Given the description of an element on the screen output the (x, y) to click on. 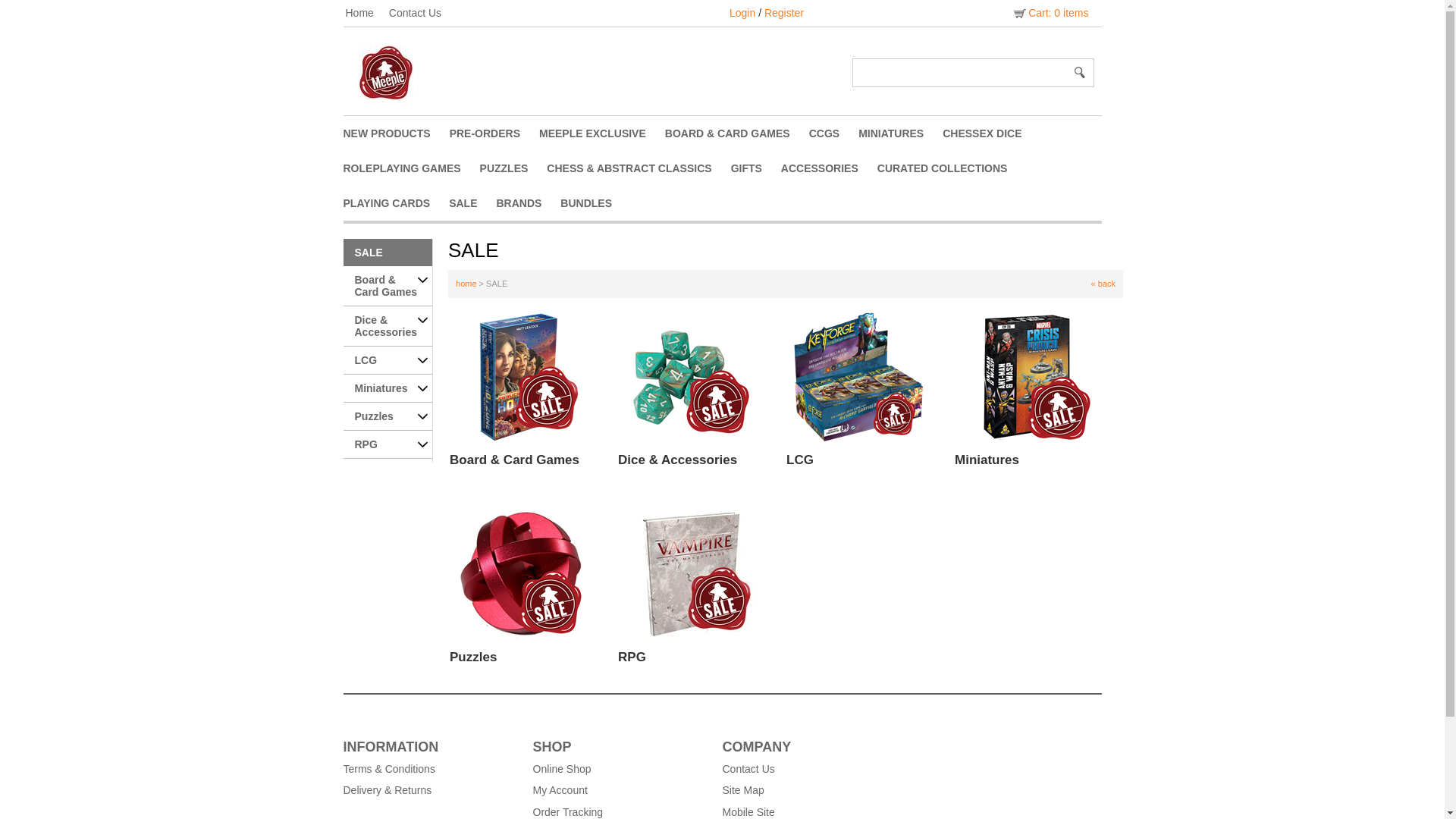
PRE-ORDERS Element type: text (494, 133)
MEEPLE EXCLUSIVE Element type: text (602, 133)
Online Shop Element type: text (619, 768)
ACCESSORIES Element type: text (829, 167)
Home Element type: text (367, 12)
CURATED COLLECTIONS Element type: text (951, 167)
Board & Card Games Element type: text (387, 286)
Contact Us Element type: text (422, 12)
My Account Element type: text (619, 789)
LCG Element type: text (799, 458)
Register Element type: text (783, 12)
Puzzles Element type: text (387, 416)
NEW PRODUCTS Element type: text (395, 133)
RPG Element type: text (387, 444)
Dice & Accessories Element type: text (677, 458)
ROLEPLAYING GAMES Element type: text (410, 167)
SALE Element type: text (471, 202)
home Element type: text (465, 283)
Site Map Element type: text (808, 789)
PUZZLES Element type: text (513, 167)
Login Element type: text (742, 12)
BRANDS Element type: text (527, 202)
Miniatures Element type: text (387, 388)
BUNDLES Element type: text (595, 202)
Puzzles Element type: text (472, 656)
RPG Element type: text (632, 656)
CCGS Element type: text (833, 133)
CHESS & ABSTRACT CLASSICS Element type: text (638, 167)
GIFTS Element type: text (756, 167)
Cart: 0 items Element type: text (1049, 12)
CHESSEX DICE Element type: text (991, 133)
Search Products... Element type: hover (960, 72)
SALE Element type: text (387, 252)
LCG Element type: text (387, 360)
Contact Us Element type: text (808, 768)
Miniatures Element type: text (986, 458)
BOARD & CARD GAMES Element type: text (737, 133)
Delivery & Returns Element type: text (429, 789)
Board & Card Games Element type: text (514, 458)
PLAYING CARDS Element type: text (395, 202)
Dice & Accessories Element type: text (387, 326)
Terms & Conditions Element type: text (429, 768)
MINIATURES Element type: text (900, 133)
